Given the description of an element on the screen output the (x, y) to click on. 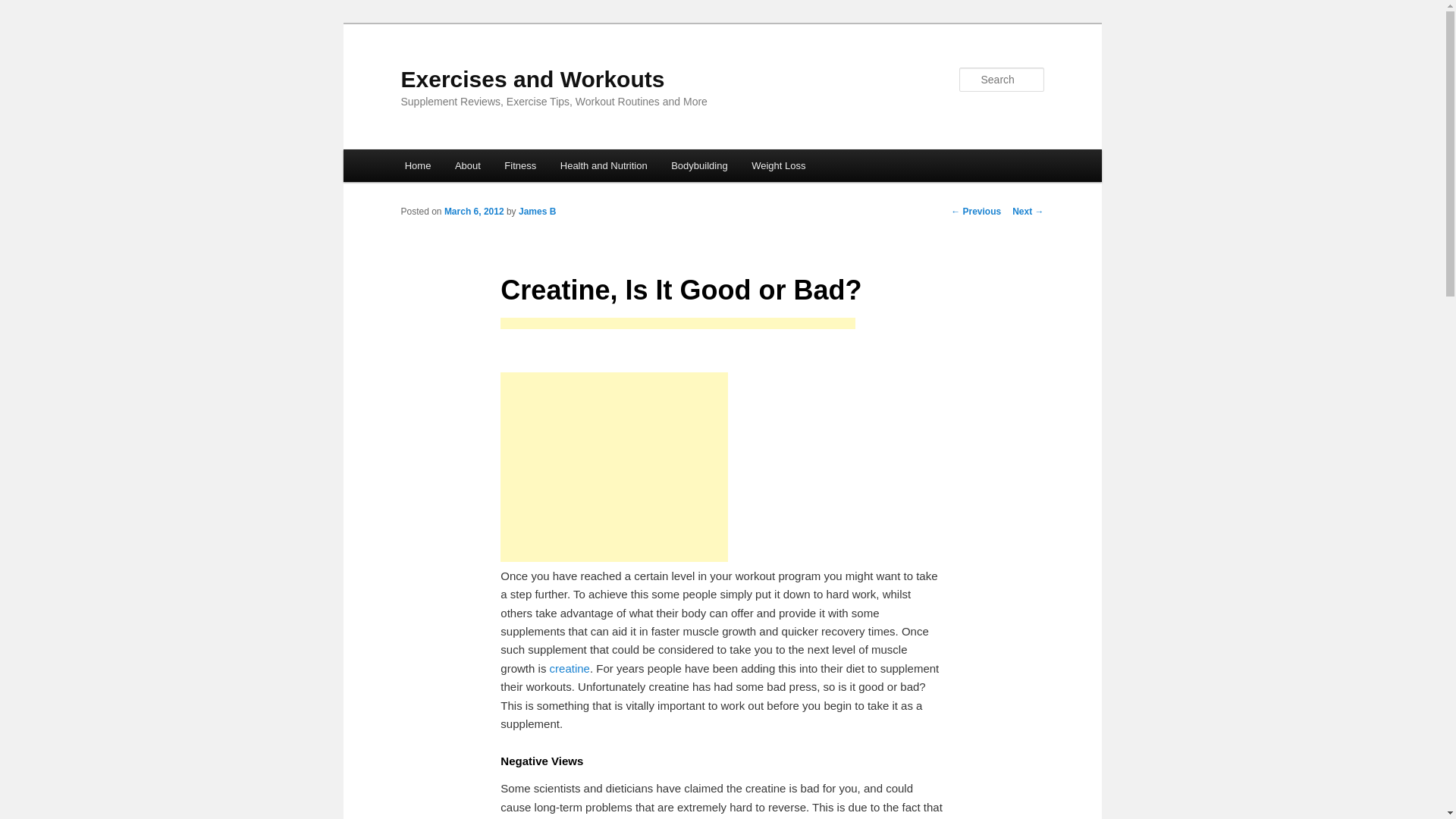
Home (417, 165)
James B (537, 211)
Weight Loss (777, 165)
8:37 am (473, 211)
Health and Nutrition (603, 165)
Fitness (520, 165)
March 6, 2012 (473, 211)
creatine (569, 667)
